Given the description of an element on the screen output the (x, y) to click on. 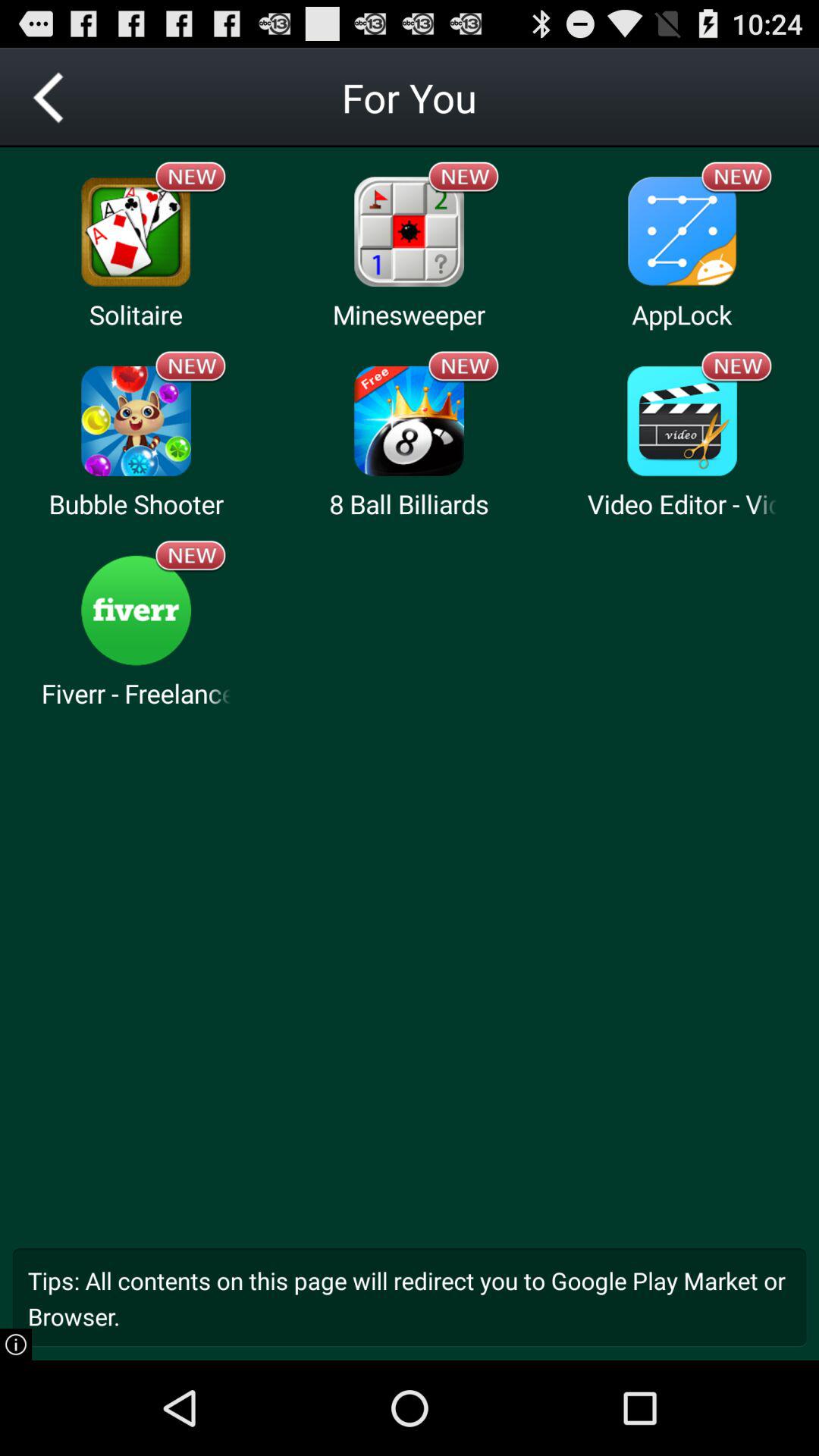
flip until fiverr - freelance services app (135, 692)
